Given the description of an element on the screen output the (x, y) to click on. 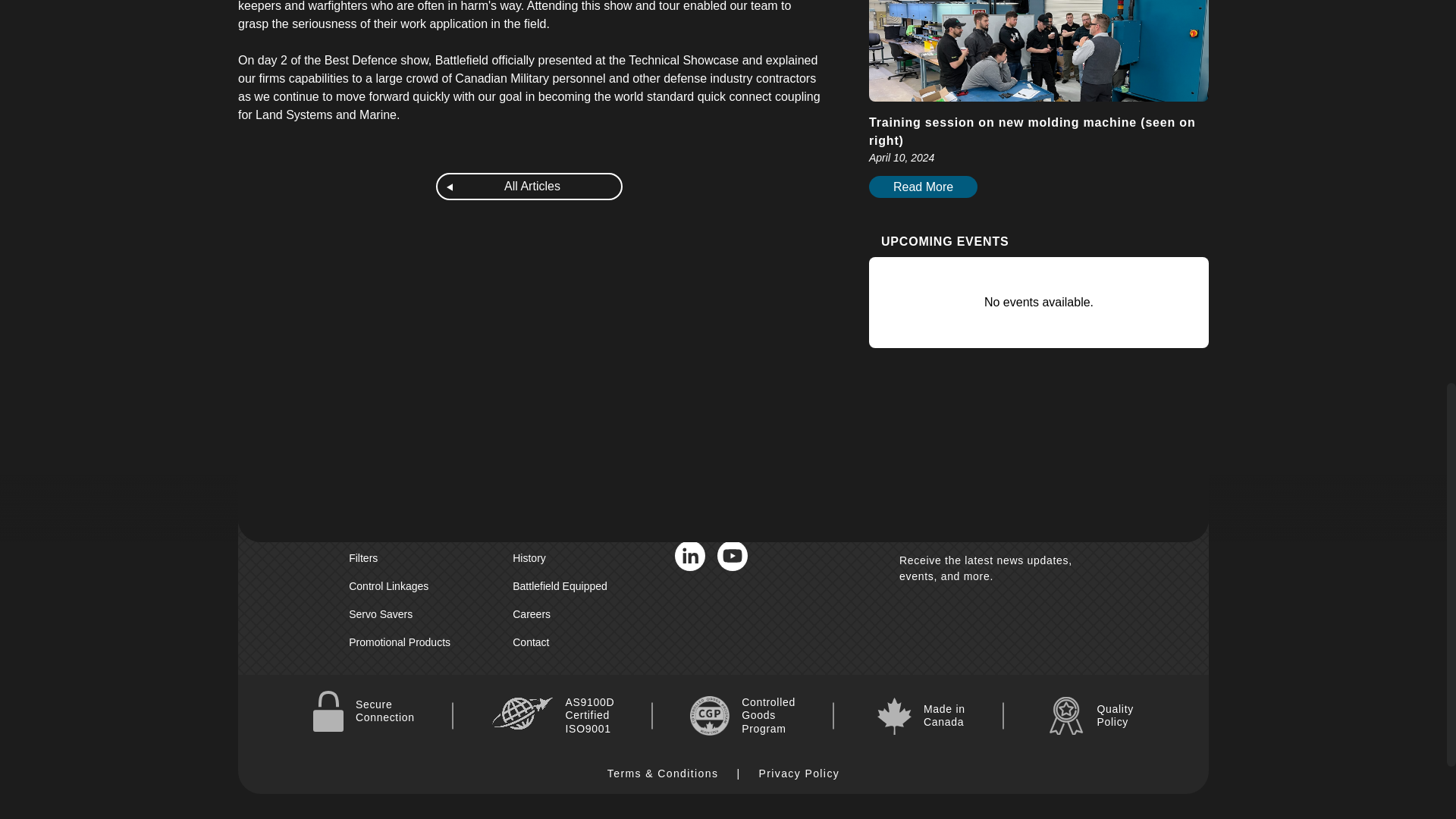
Read More (922, 187)
All Articles (529, 185)
